Given the description of an element on the screen output the (x, y) to click on. 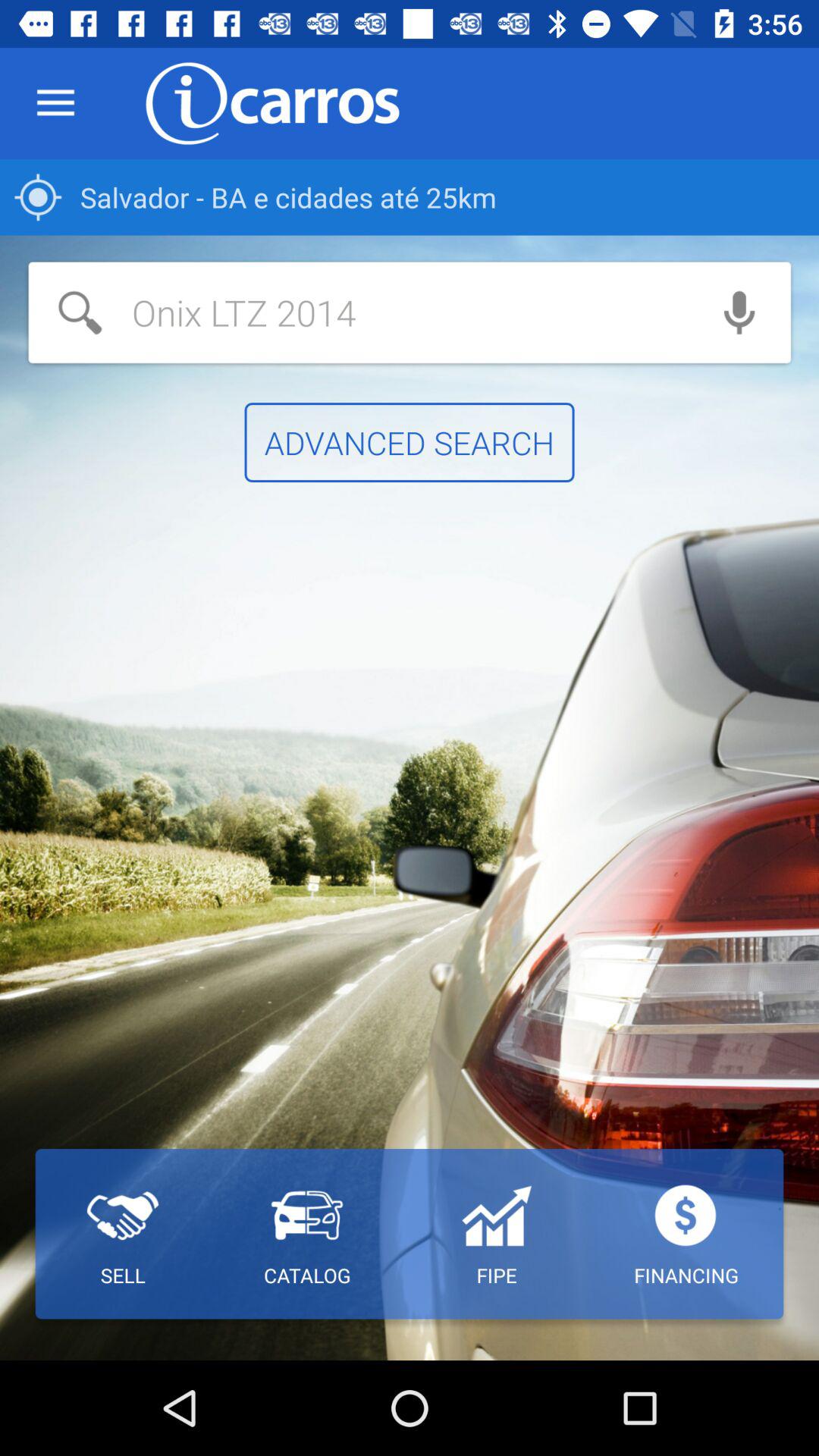
turn on icon below salvador ba e item (357, 312)
